Given the description of an element on the screen output the (x, y) to click on. 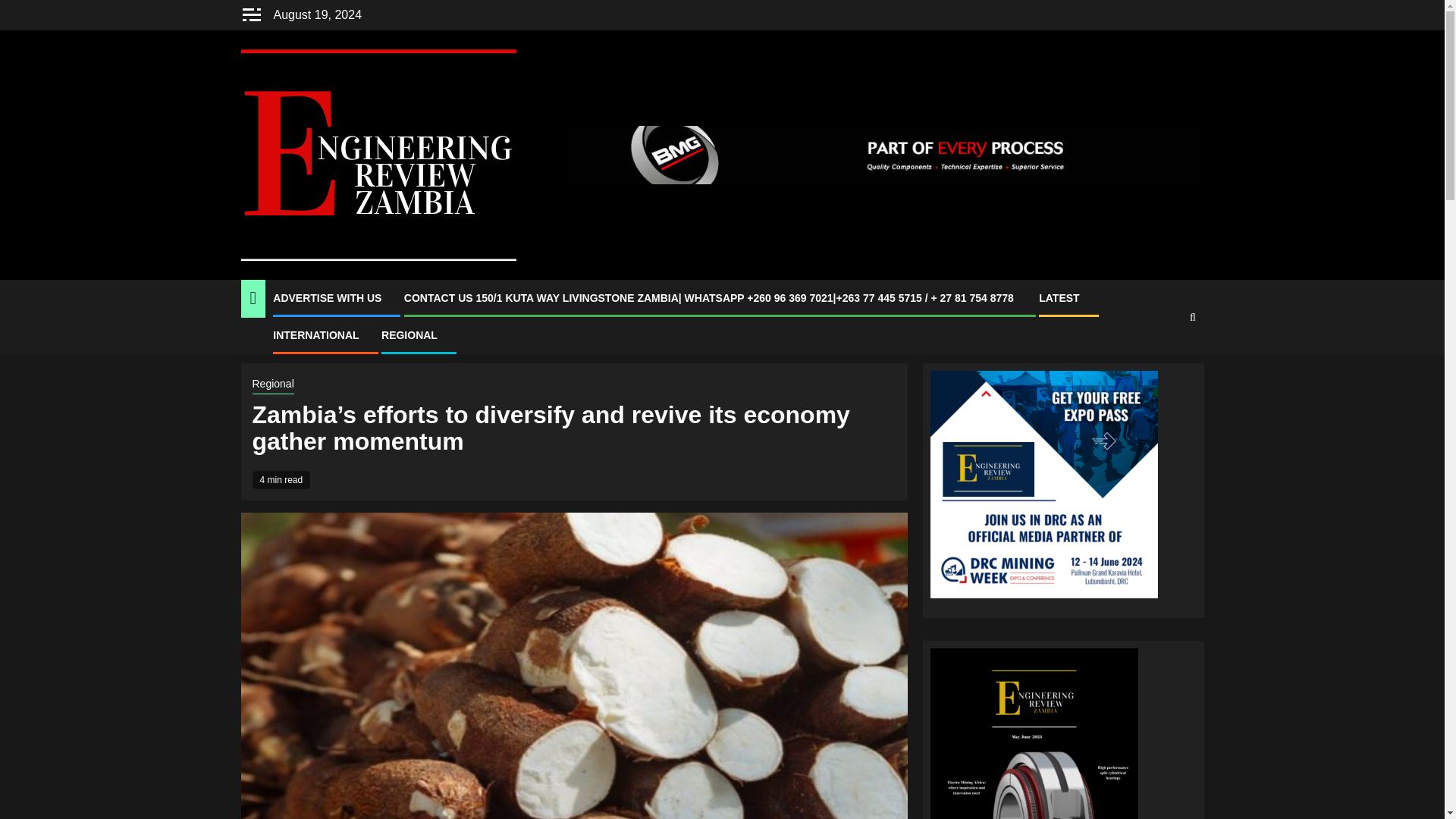
ADVERTISE WITH US (327, 297)
REGIONAL (409, 335)
LATEST (1058, 297)
Home (254, 339)
Search (1163, 362)
INTERNATIONAL (315, 335)
Regional (272, 384)
Regional (298, 339)
